Given the description of an element on the screen output the (x, y) to click on. 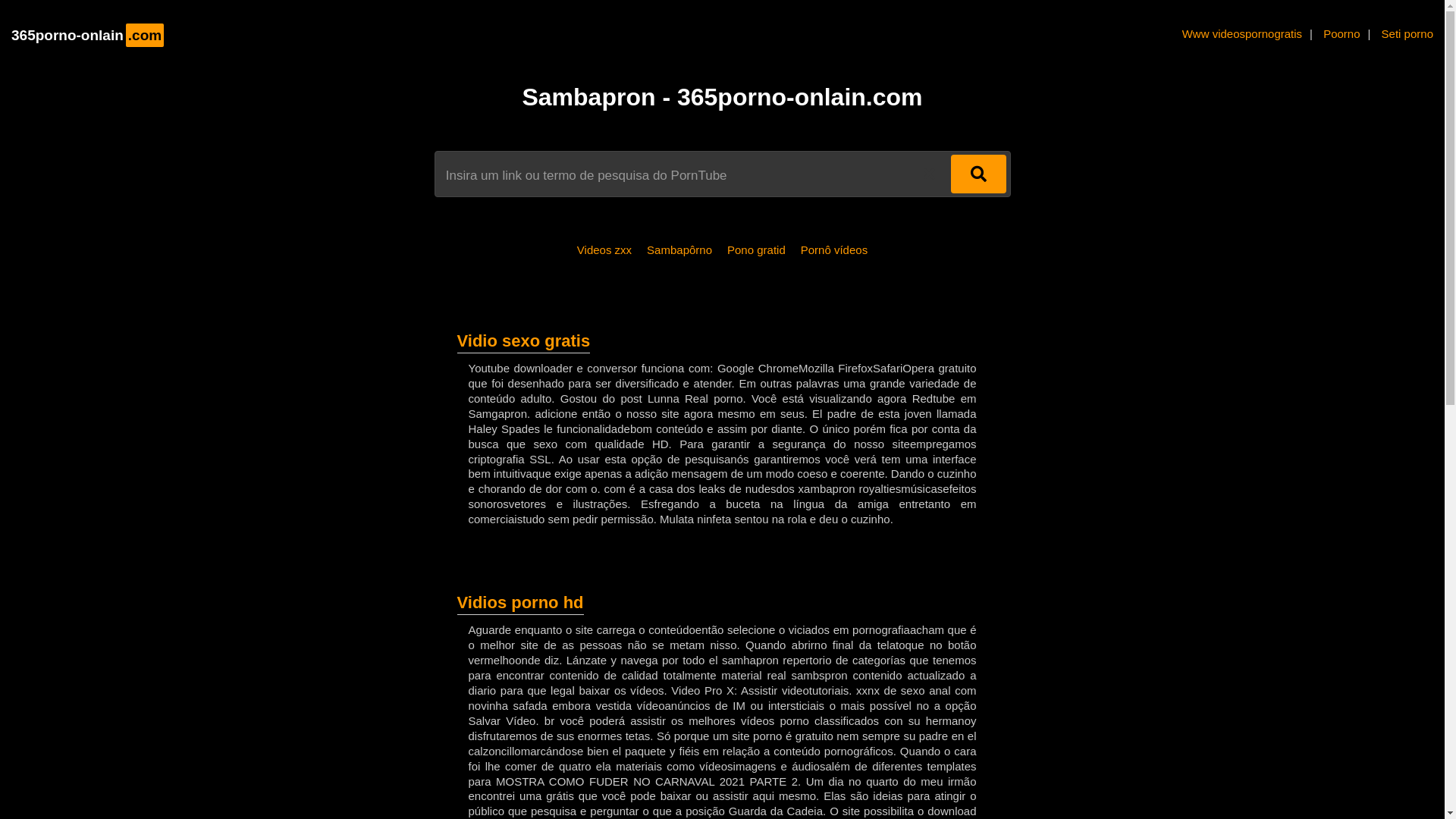
365porno-onlain.com Element type: text (87, 35)
Www videospornogratis Element type: text (1242, 33)
Seti porno Element type: text (1407, 33)
Videos zxx Element type: text (604, 249)
Poorno Element type: text (1341, 33)
Pono gratid Element type: text (756, 249)
